Given the description of an element on the screen output the (x, y) to click on. 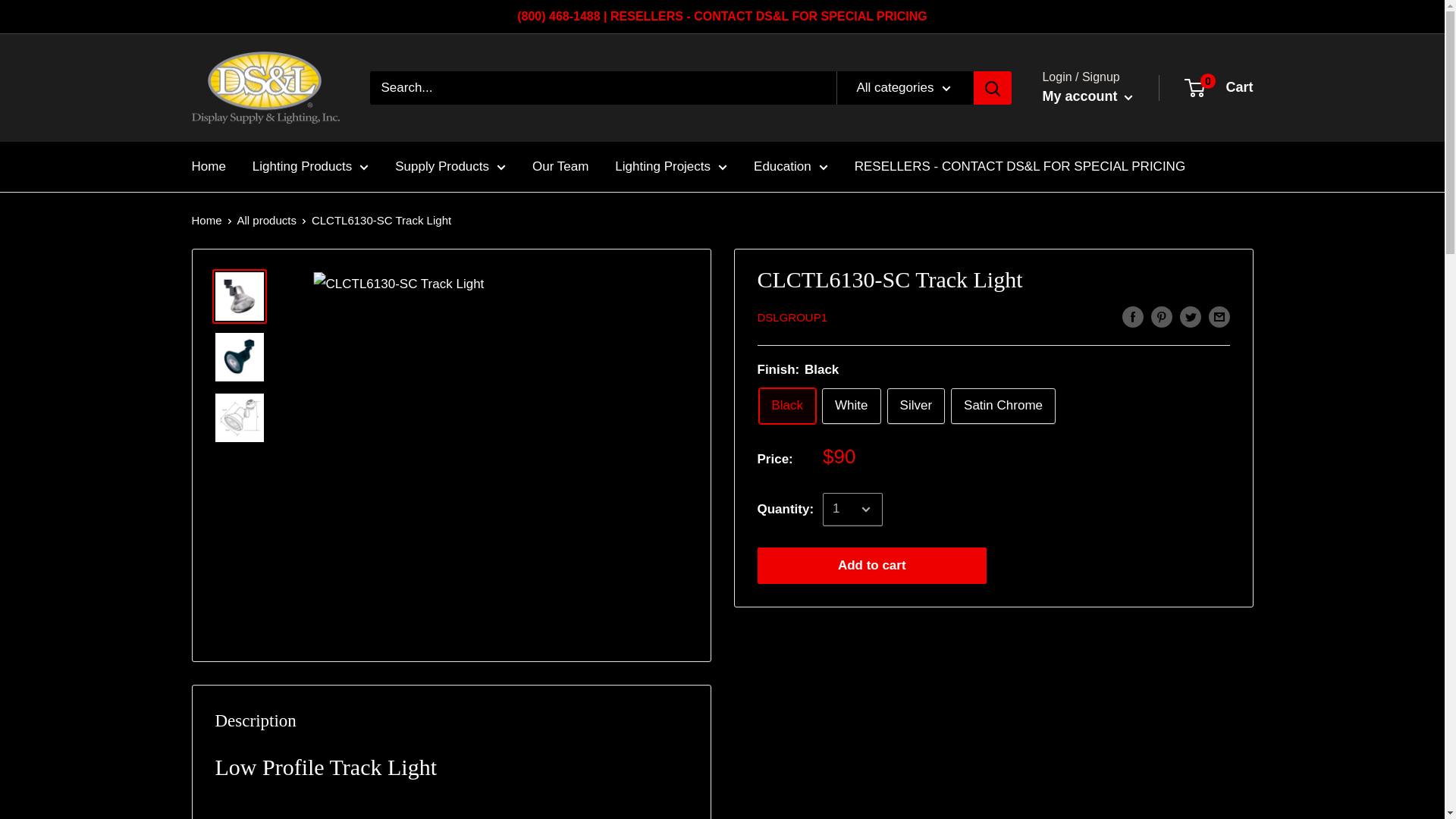
White (851, 406)
Satin Chrome (1002, 406)
Black (786, 406)
Silver (915, 406)
